Given the description of an element on the screen output the (x, y) to click on. 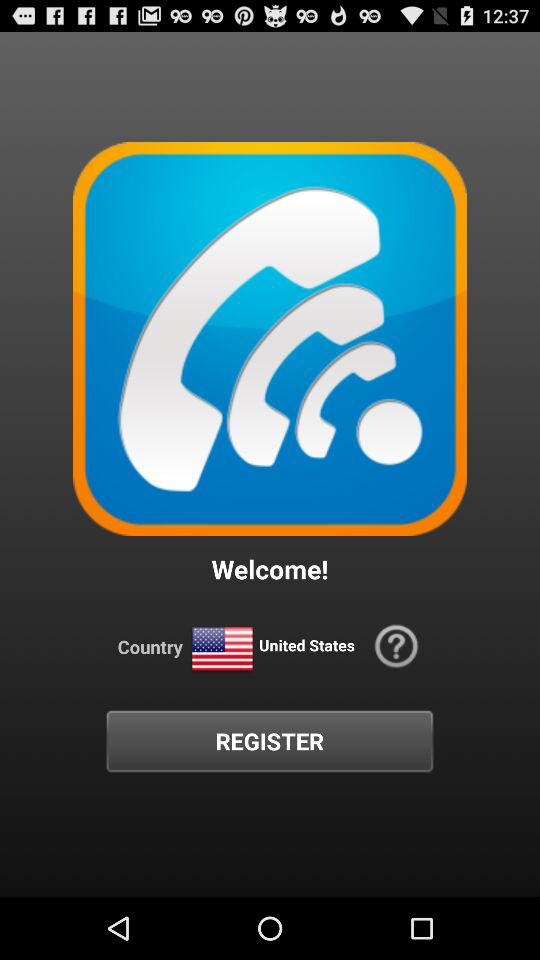
country (221, 649)
